Given the description of an element on the screen output the (x, y) to click on. 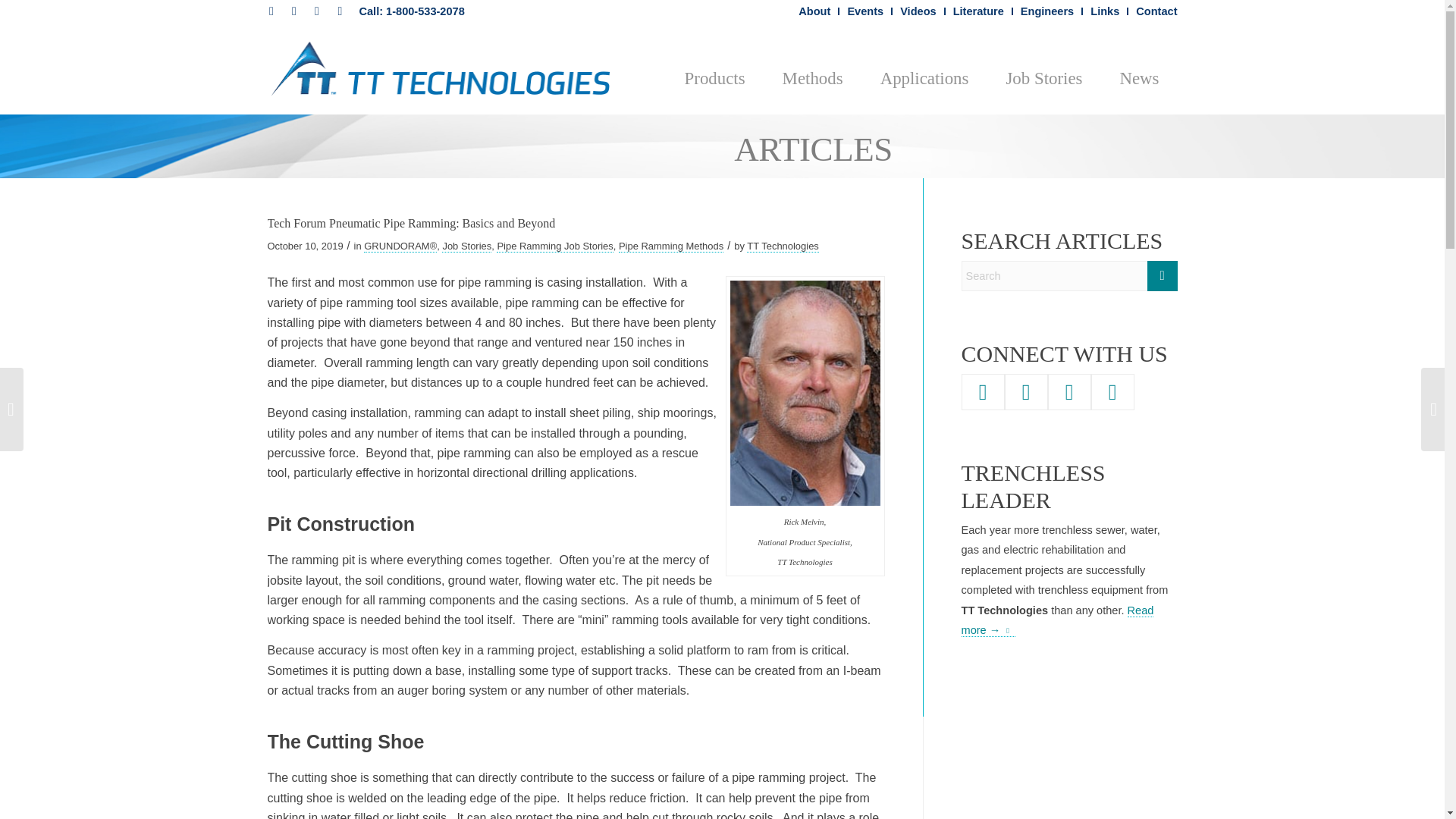
Literature (978, 11)
tt-technologies-logo-2020 (439, 68)
X (294, 11)
Youtube (317, 11)
Videos (917, 11)
Events (865, 11)
Products (714, 68)
About (813, 11)
Posts by TT Technologies (782, 246)
Permanent Link: Articles (812, 149)
Methods (811, 68)
Engineers (1047, 11)
tt-technologies-logo-2020 (439, 68)
Rss (340, 11)
Links (1104, 11)
